Given the description of an element on the screen output the (x, y) to click on. 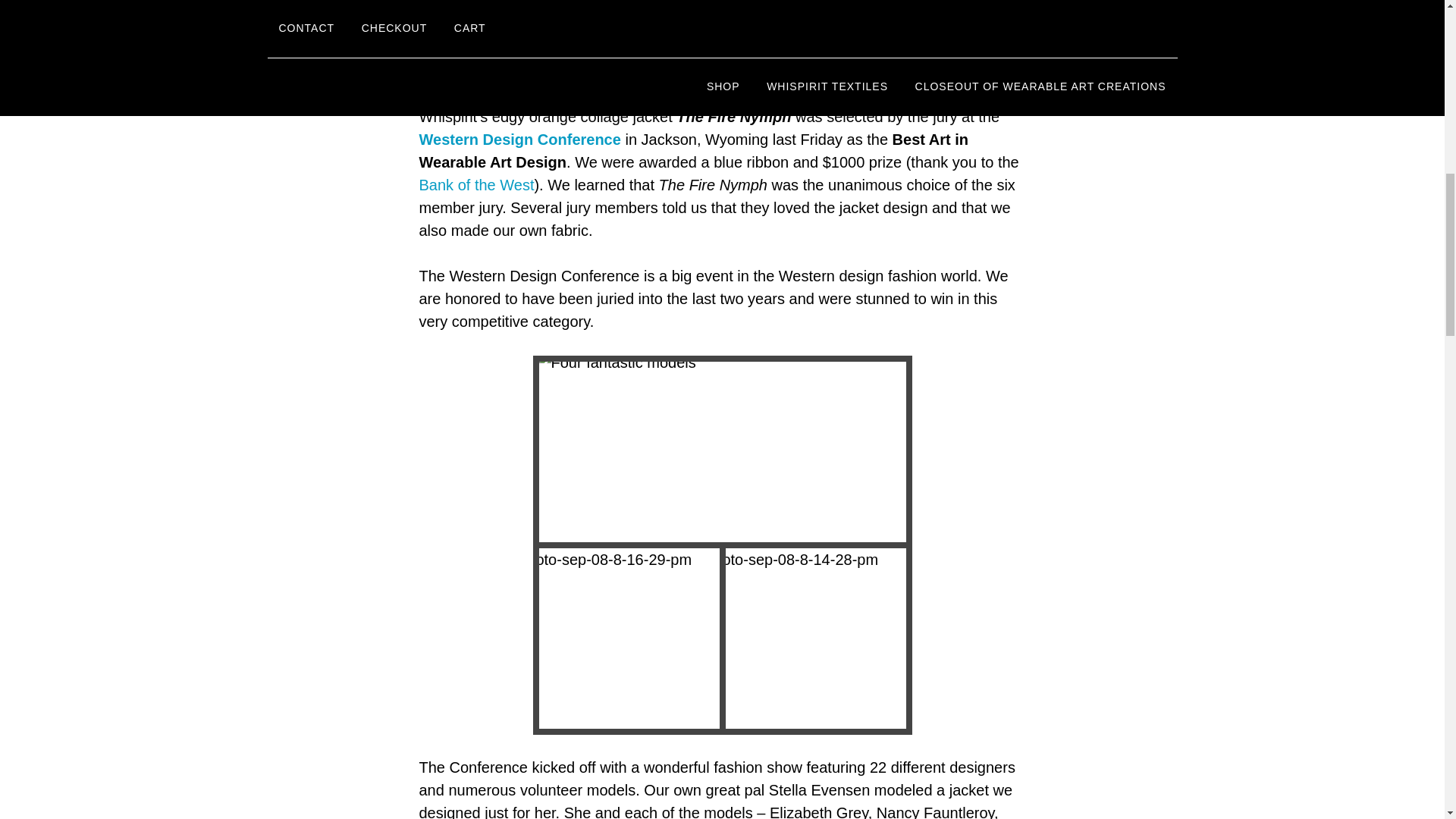
Western Design Conference (519, 139)
photo-sep-08-8-16-29-pm (634, 644)
photo-sep-08-8-14-28-pm (821, 644)
Four fantastic models (727, 457)
Bank of the West (476, 184)
